Given the description of an element on the screen output the (x, y) to click on. 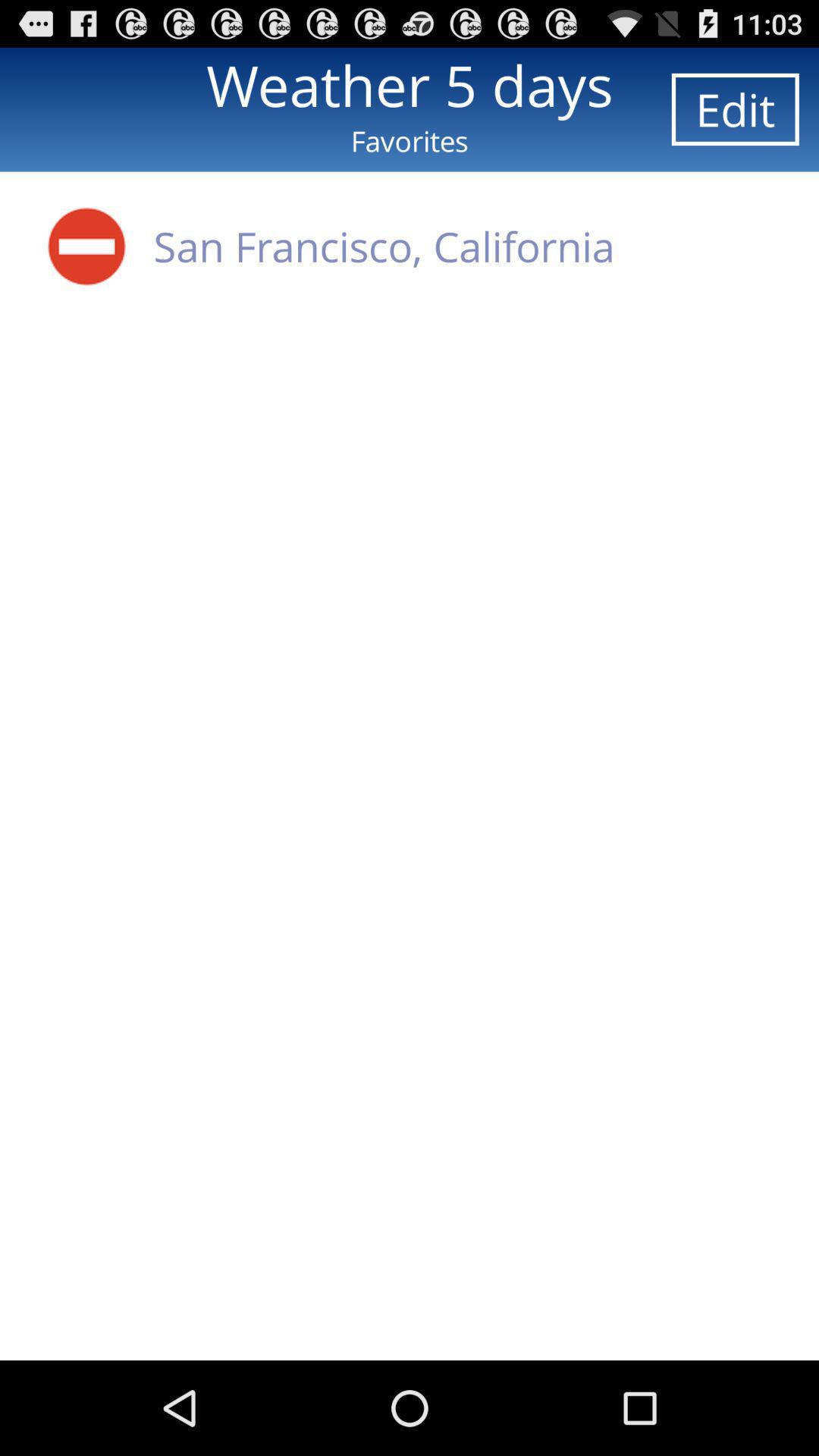
turn on the aa (86, 245)
